Given the description of an element on the screen output the (x, y) to click on. 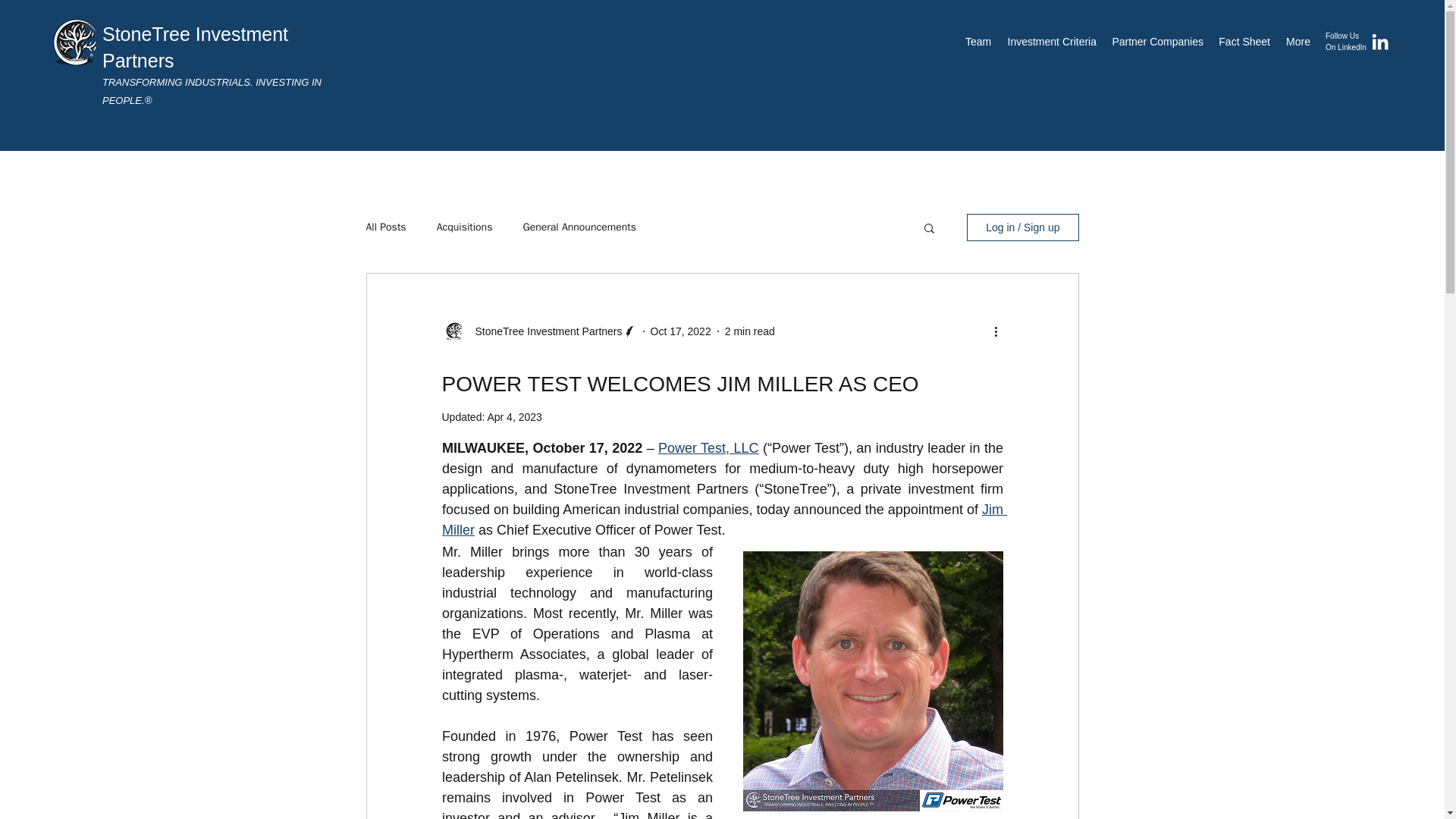
Apr 4, 2023 (513, 417)
Jim Miller (723, 519)
Team (977, 41)
On LinkedIn (1345, 47)
Partner Companies (1157, 41)
Acquisitions (464, 227)
StoneTree Investment Partners (543, 330)
Oct 17, 2022 (680, 330)
Follow Us  (1342, 35)
All Posts (385, 227)
Power Test, LLC (708, 447)
General Announcements (579, 227)
2 min read (749, 330)
Investment Criteria (1050, 41)
Fact Sheet (1244, 41)
